Given the description of an element on the screen output the (x, y) to click on. 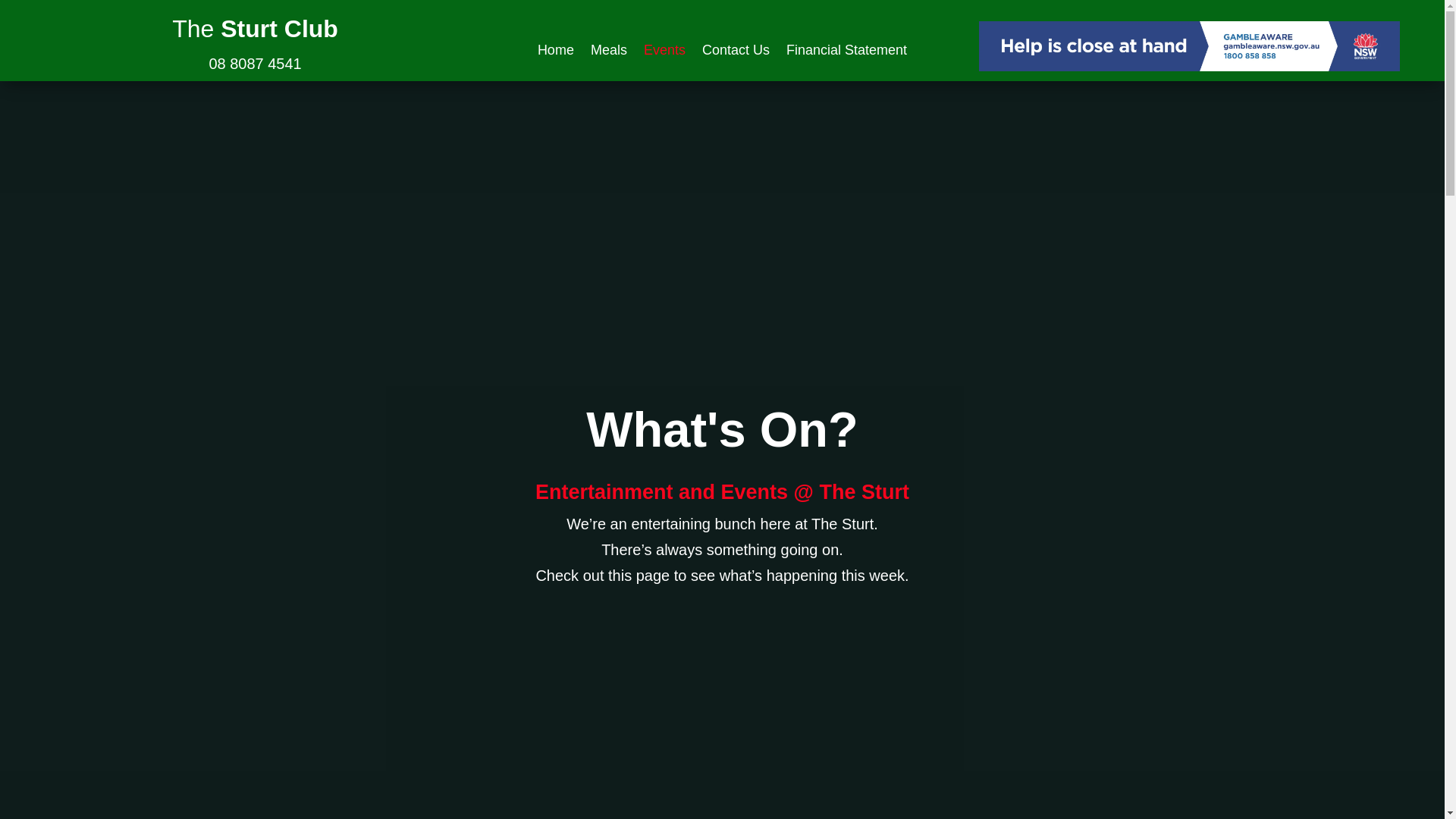
Events (664, 52)
Contact Us (735, 52)
Meals (609, 52)
Financial Statement (846, 52)
Home (555, 52)
